Given the description of an element on the screen output the (x, y) to click on. 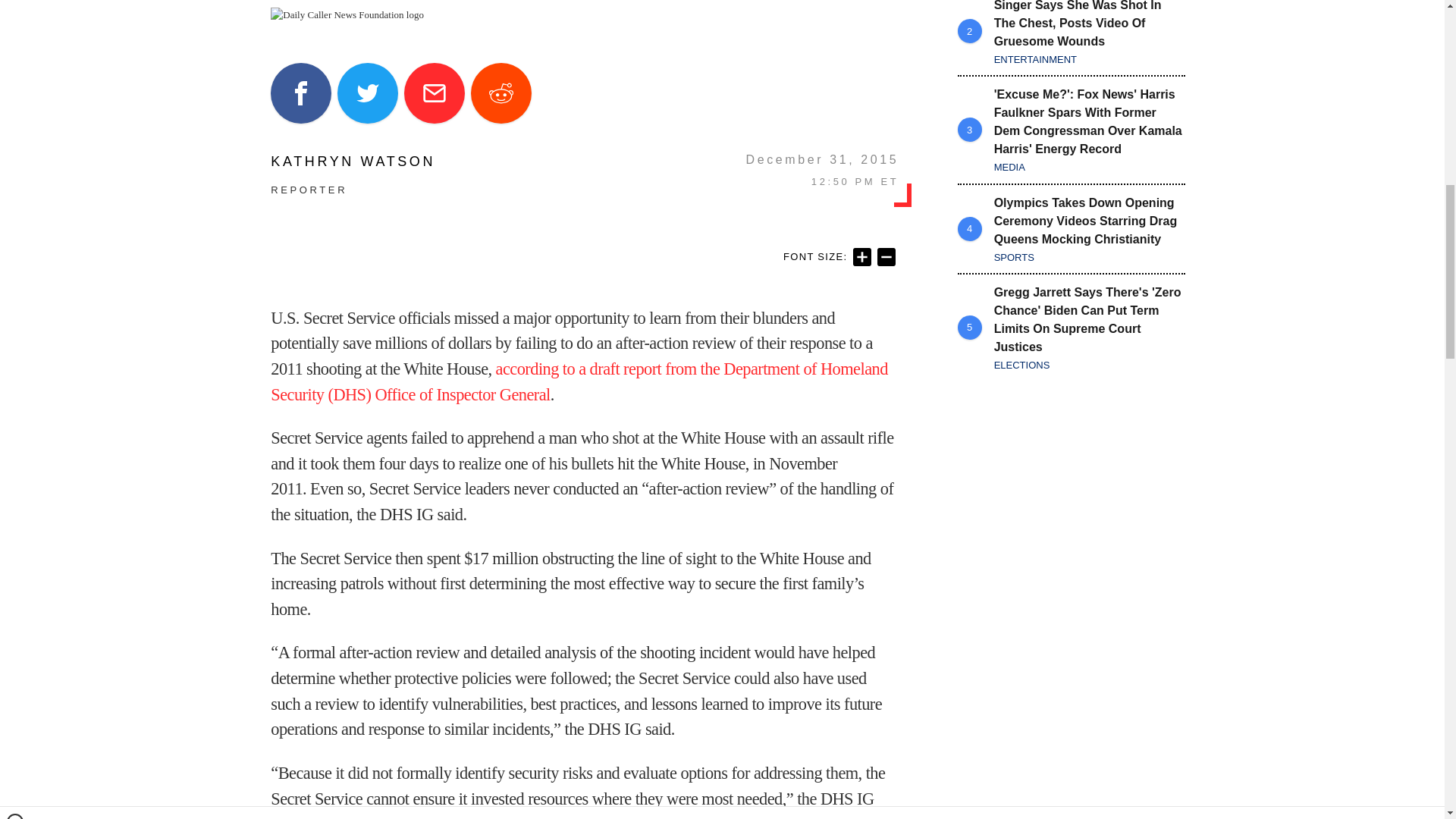
View More Articles By Kathryn Watson (352, 161)
Close window (14, 6)
KATHRYN WATSON (352, 161)
